Given the description of an element on the screen output the (x, y) to click on. 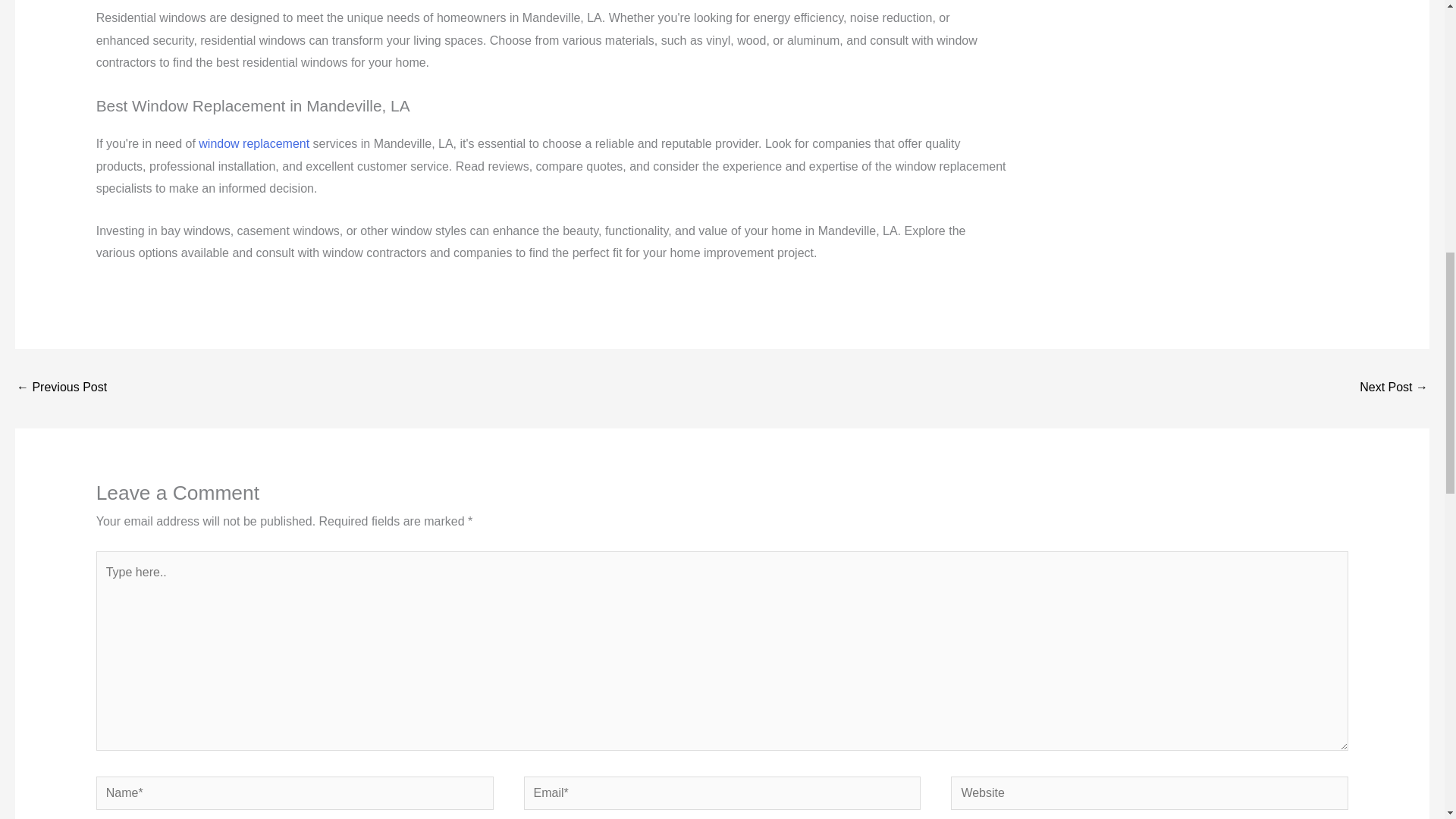
window replacement (253, 143)
Window Replacement Companies in Mandeville LA (1393, 388)
Best Window Replacement Mandeville LA (61, 388)
